Given the description of an element on the screen output the (x, y) to click on. 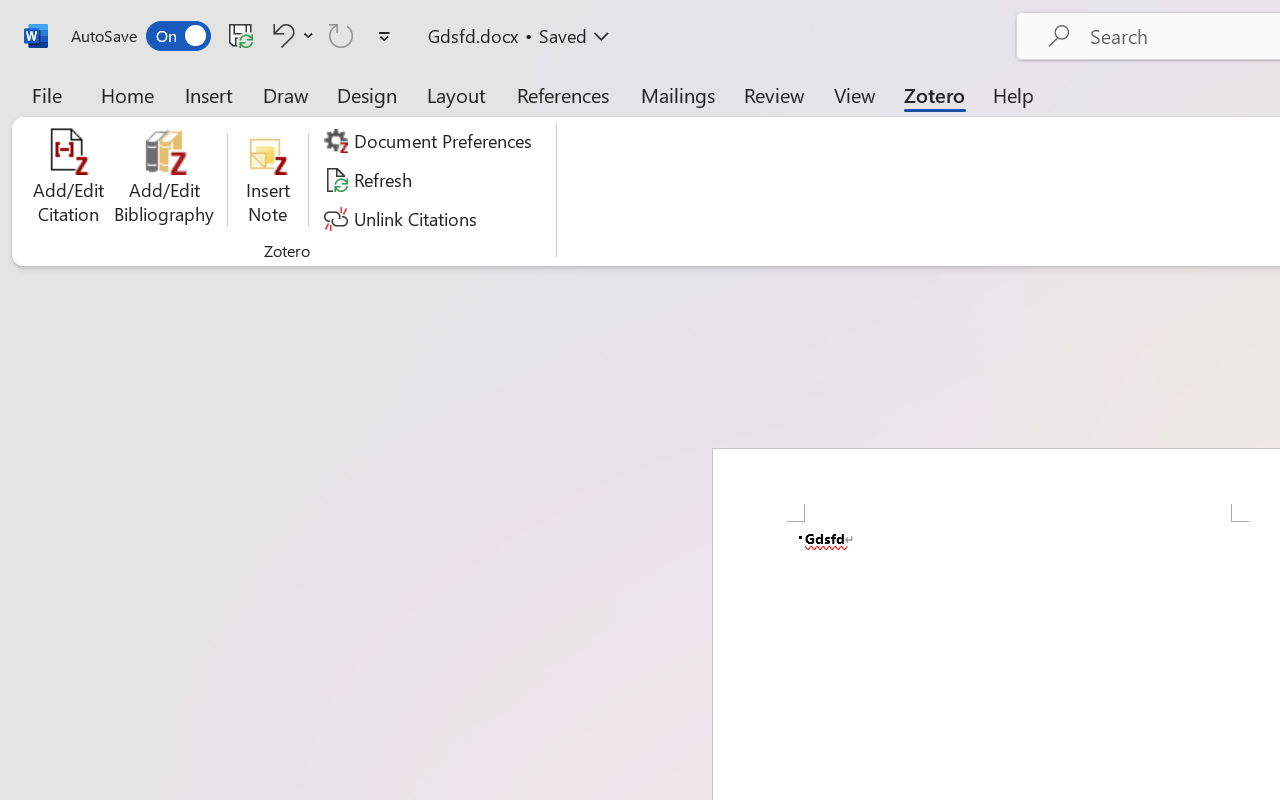
Refresh (370, 179)
Document Preferences (431, 141)
Insert Note (267, 179)
Undo <ApplyStyleToDoc>b__0 (280, 35)
